Given the description of an element on the screen output the (x, y) to click on. 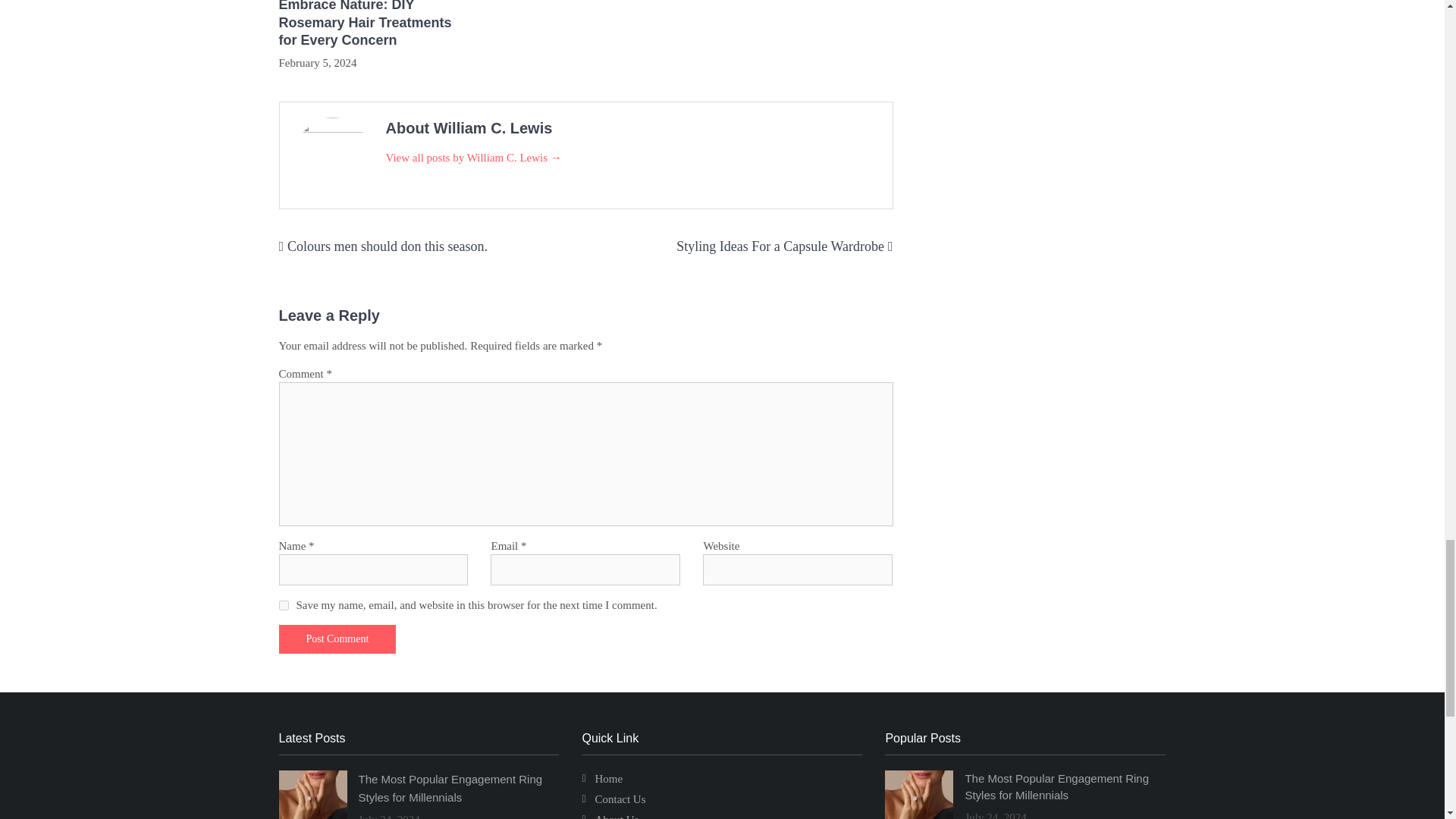
Post Comment (337, 638)
yes (283, 605)
Colours men should don this season. (386, 246)
